Given the description of an element on the screen output the (x, y) to click on. 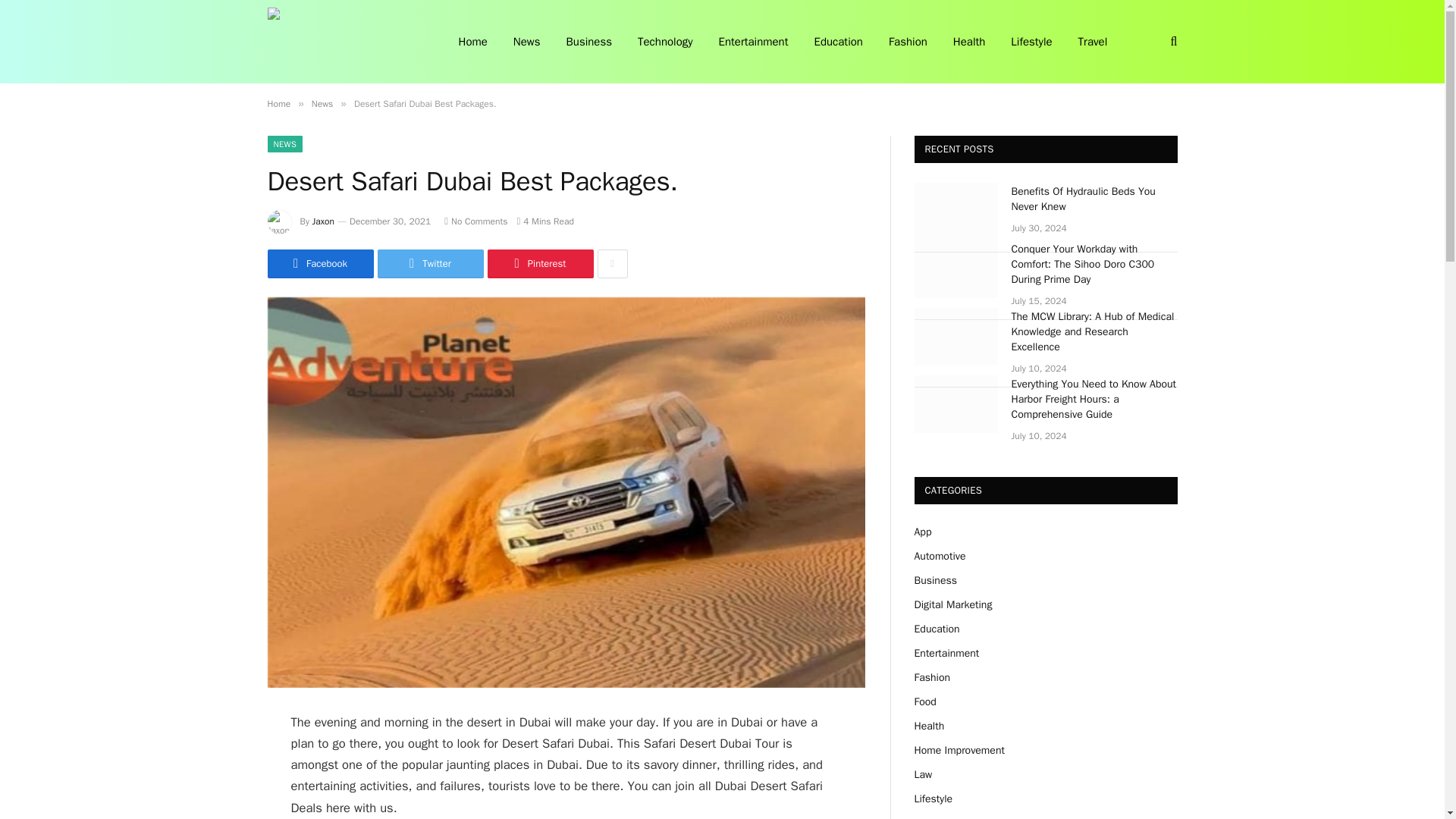
NEWS (284, 143)
Share on Facebook (319, 263)
Entertainment (754, 41)
Share on Twitter (430, 263)
Technology (665, 41)
Jaxon (323, 221)
Facebook (319, 263)
No Comments (475, 221)
Pinterest (539, 263)
Twitter (430, 263)
Home (277, 103)
Education (837, 41)
Posts by Jaxon (323, 221)
Show More Social Sharing (611, 263)
